Given the description of an element on the screen output the (x, y) to click on. 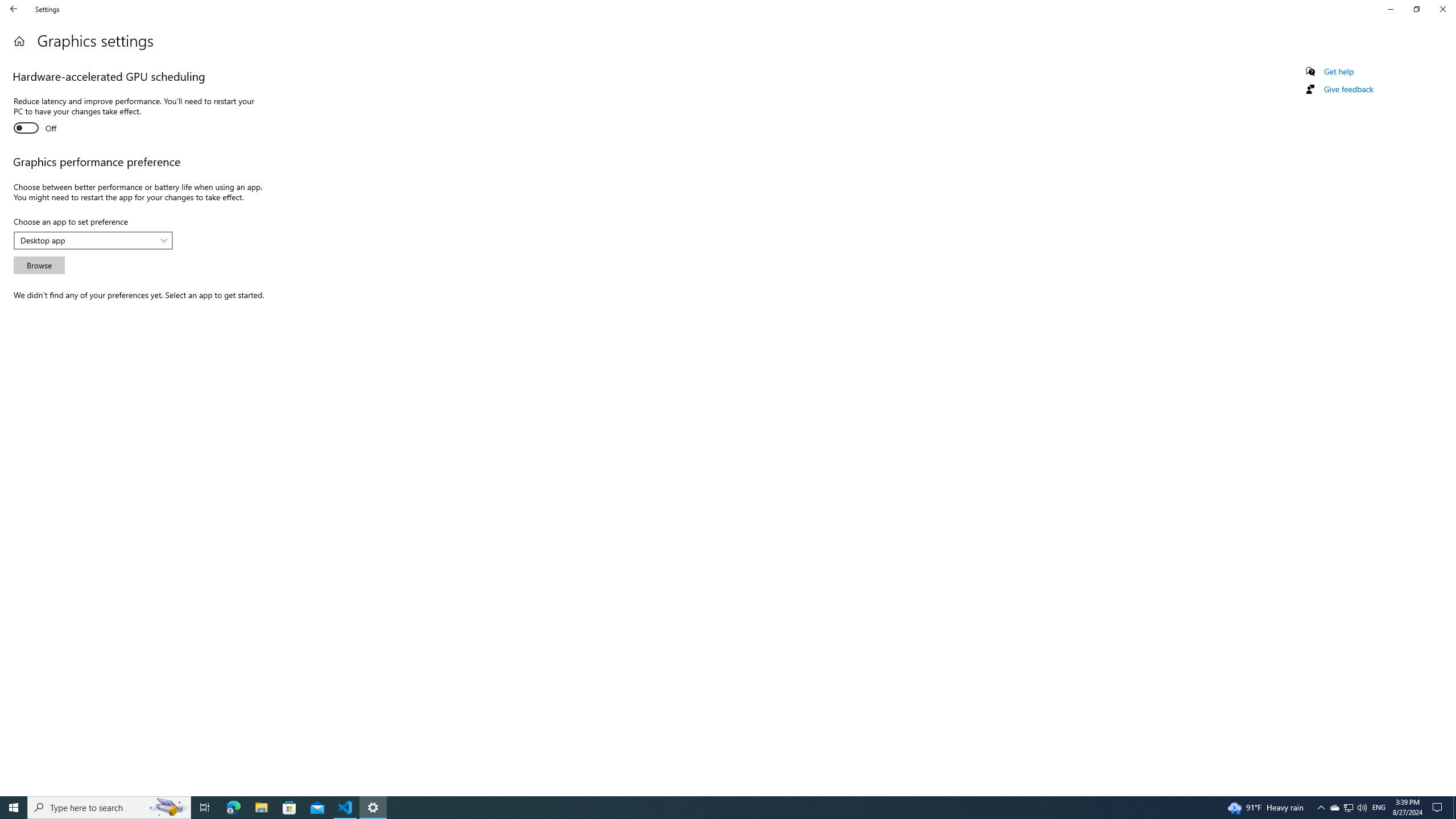
Home (19, 40)
Restore Settings (1416, 9)
Back (13, 9)
Get help (1338, 71)
